Given the description of an element on the screen output the (x, y) to click on. 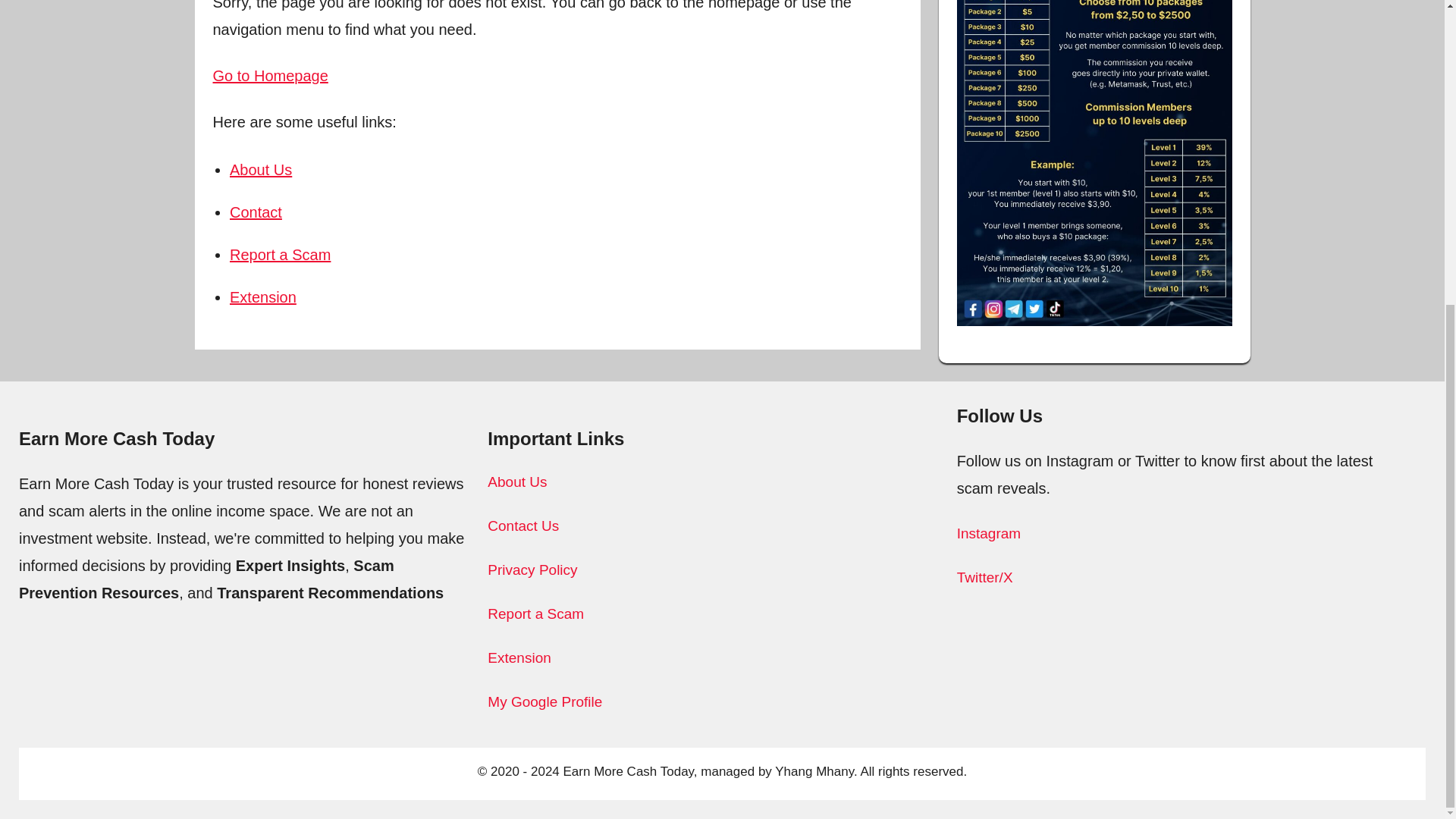
Extension (263, 297)
Report a Scam (280, 254)
Contact Us (523, 525)
Privacy Policy (531, 569)
About Us (261, 169)
About Us (517, 481)
My Google Profile (544, 701)
Instagram (988, 533)
Contact (256, 211)
Report a Scam (535, 613)
Go to Homepage (269, 75)
Extension (518, 657)
